Given the description of an element on the screen output the (x, y) to click on. 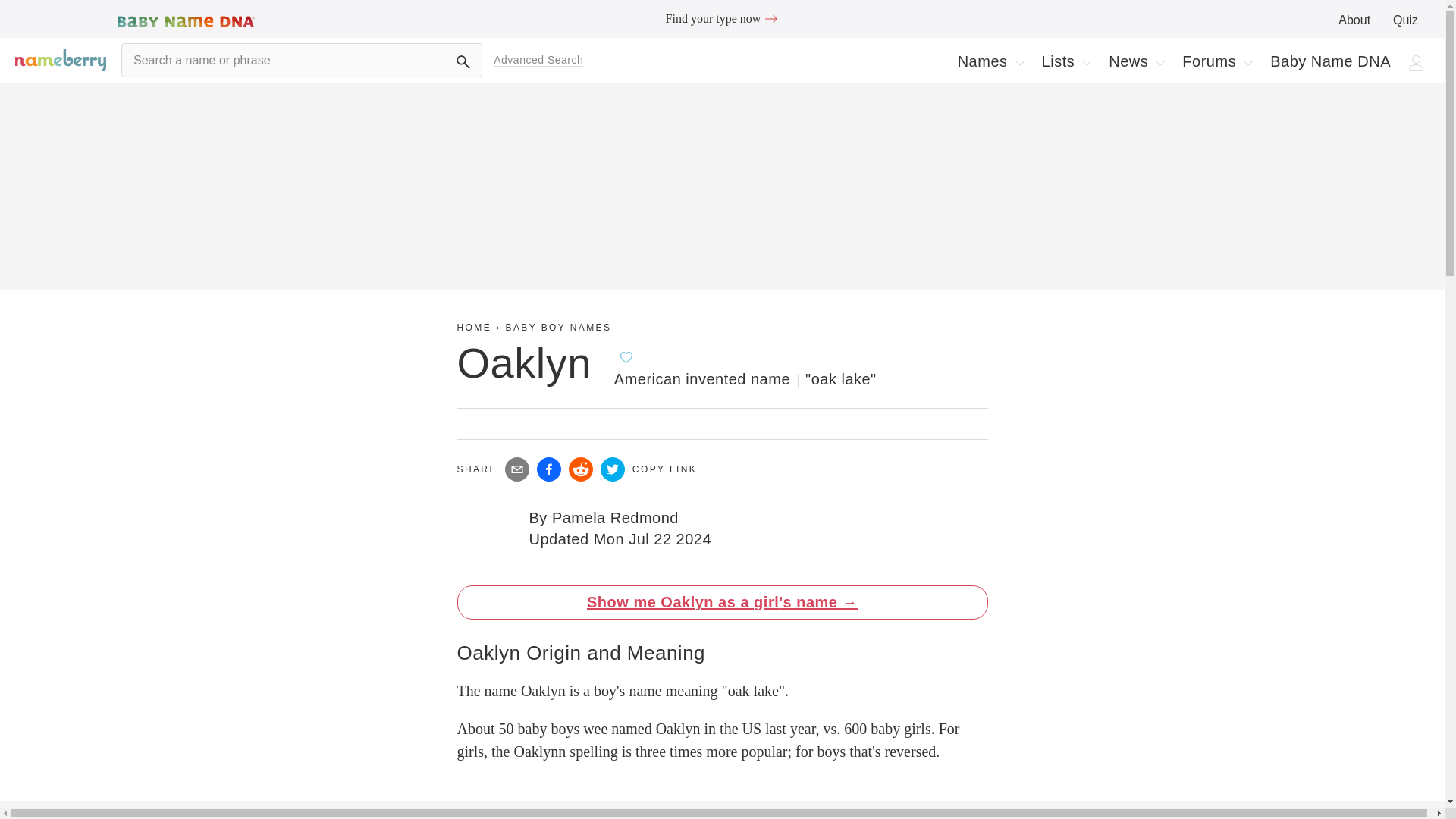
Search (462, 61)
HEART (625, 356)
About (1216, 61)
BABY BOY NAMES (1354, 19)
Chevron - Down (558, 327)
Advanced Search (1247, 62)
By Pamela Redmond (1136, 61)
Chevron - Down (538, 60)
Quiz (603, 517)
Arrow Right (1019, 62)
Chevron - Down (1405, 19)
User (770, 18)
